Given the description of an element on the screen output the (x, y) to click on. 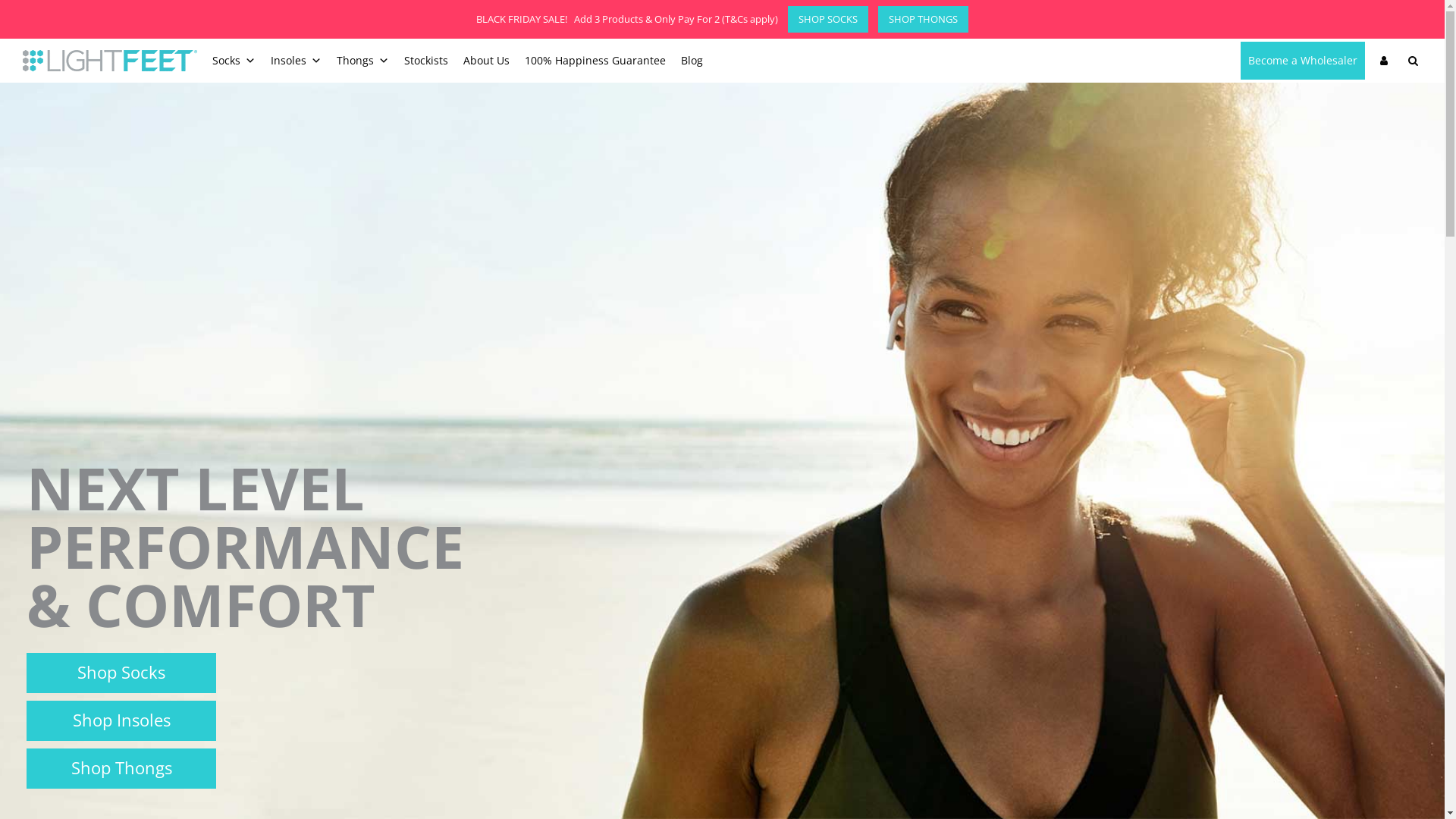
SHOP SOCKS Element type: text (824, 18)
Become a Wholesaler Element type: text (1302, 60)
Stockists Element type: text (425, 60)
Shop Insoles Element type: text (121, 720)
About Us Element type: text (486, 60)
Thongs Element type: text (362, 60)
Shop Thongs Element type: text (121, 768)
Insoles Element type: text (296, 60)
Blog Element type: text (691, 60)
Socks Element type: text (233, 60)
SHOP THONGS Element type: text (923, 19)
Shop Socks Element type: text (121, 672)
SHOP SOCKS Element type: text (827, 19)
100% Happiness Guarantee Element type: text (595, 60)
SHOP THONGS Element type: text (919, 18)
